Given the description of an element on the screen output the (x, y) to click on. 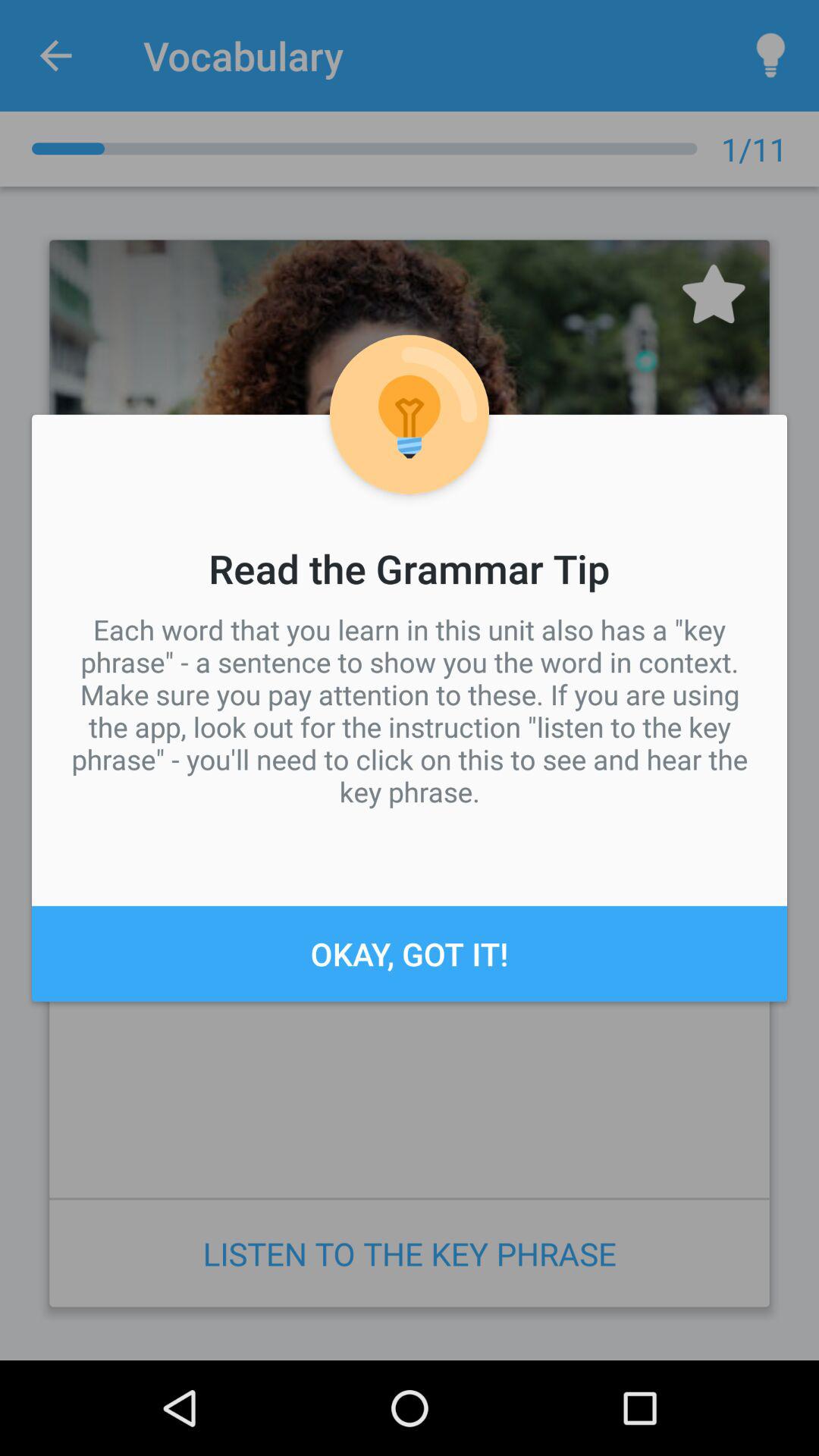
turn on the icon below each word that (409, 953)
